Given the description of an element on the screen output the (x, y) to click on. 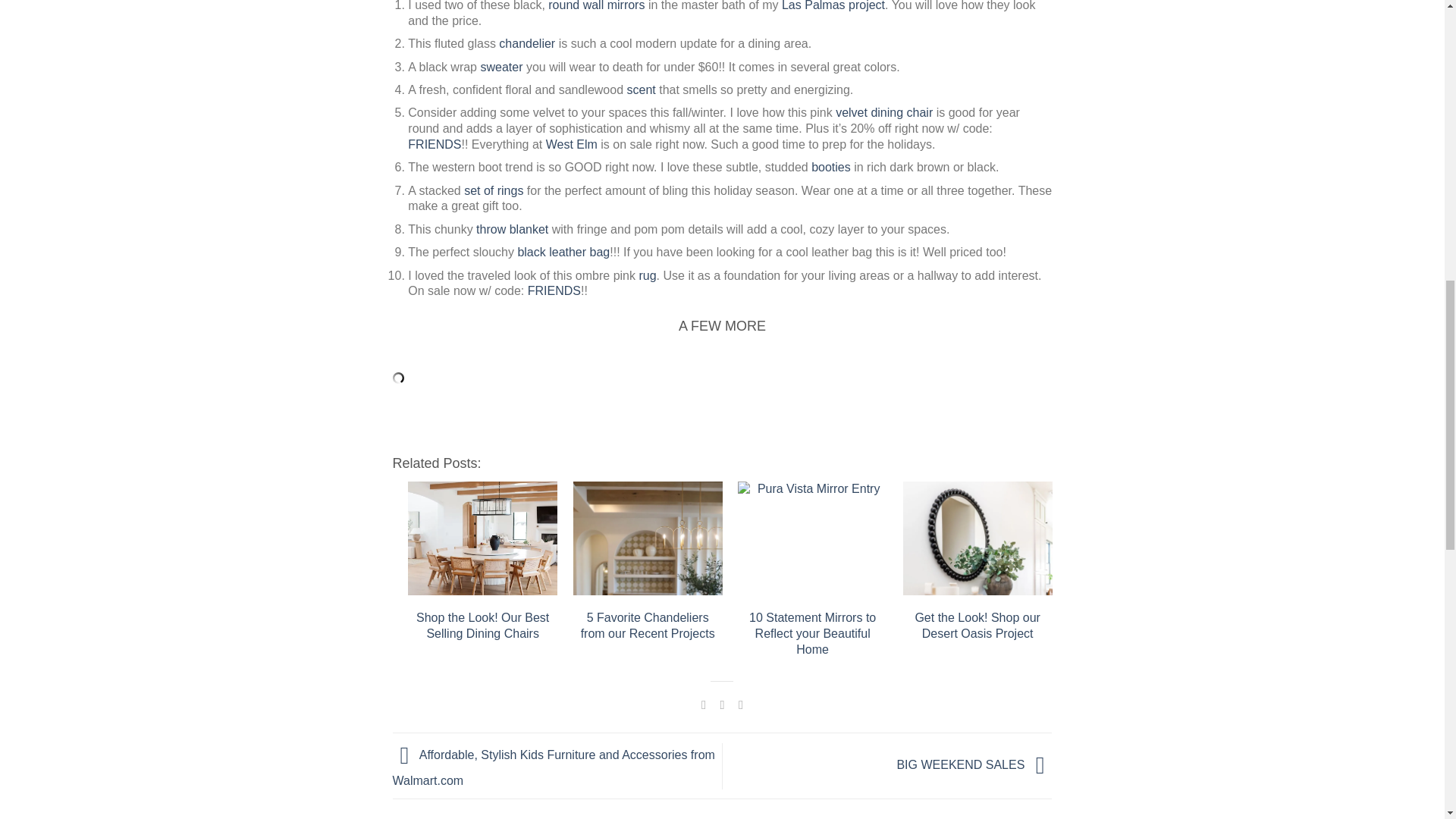
Get the Look! Shop our Desert Oasis Project (977, 538)
Shop the Look! Our Best Selling Dining Chairs (482, 538)
10 Statement Mirrors to Reflect your Beautiful Home (812, 538)
5 Favorite Chandeliers from our Recent Projects (647, 538)
